Given the description of an element on the screen output the (x, y) to click on. 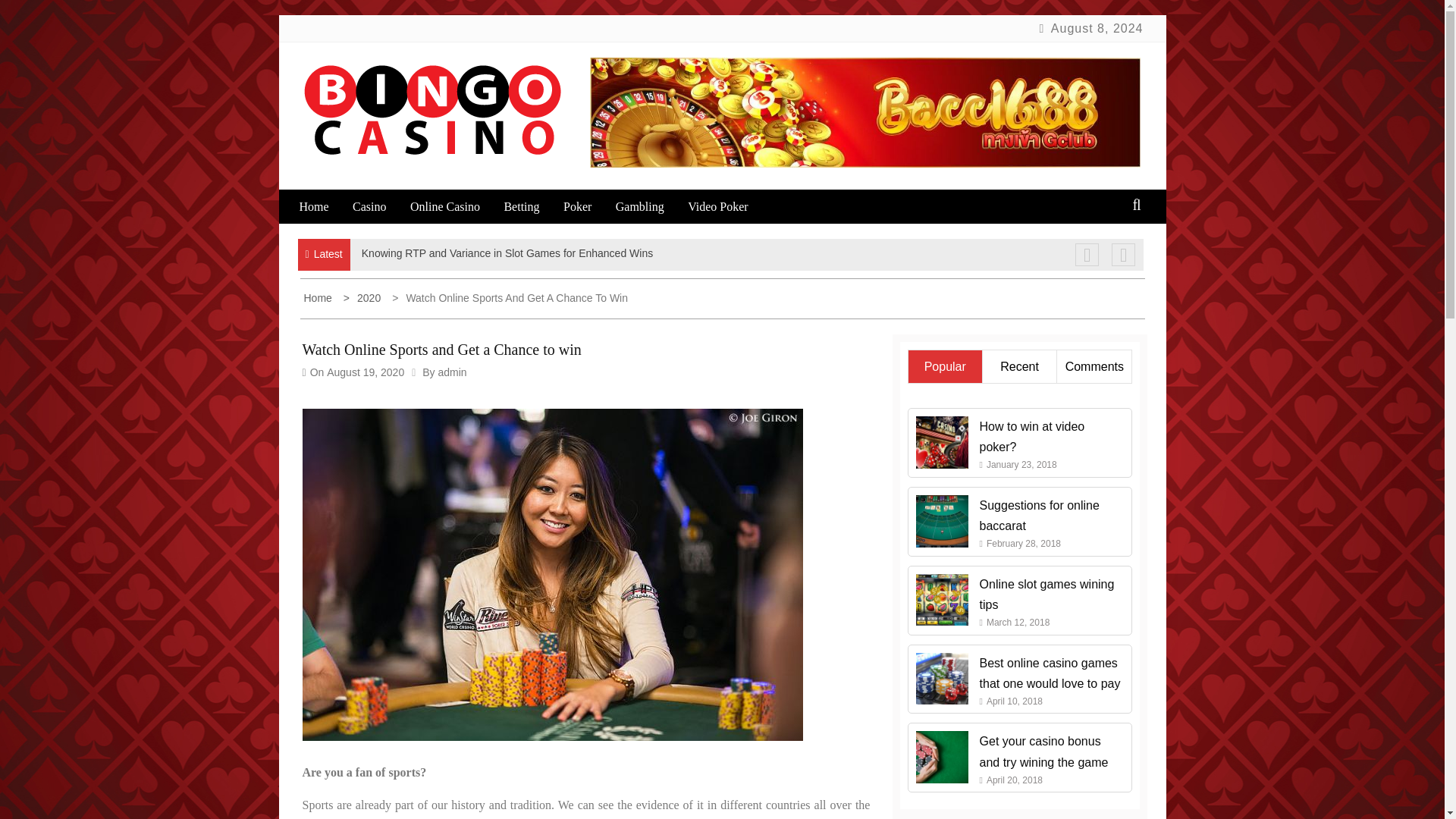
Bingo casino (394, 182)
Betting (531, 206)
Home (323, 206)
Gambling (649, 206)
Knowing RTP and Variance in Slot Games for Enhanced Wins (506, 253)
Poker (587, 206)
Video Poker (727, 206)
Comments (1094, 366)
August 19, 2020 (365, 372)
